Given the description of an element on the screen output the (x, y) to click on. 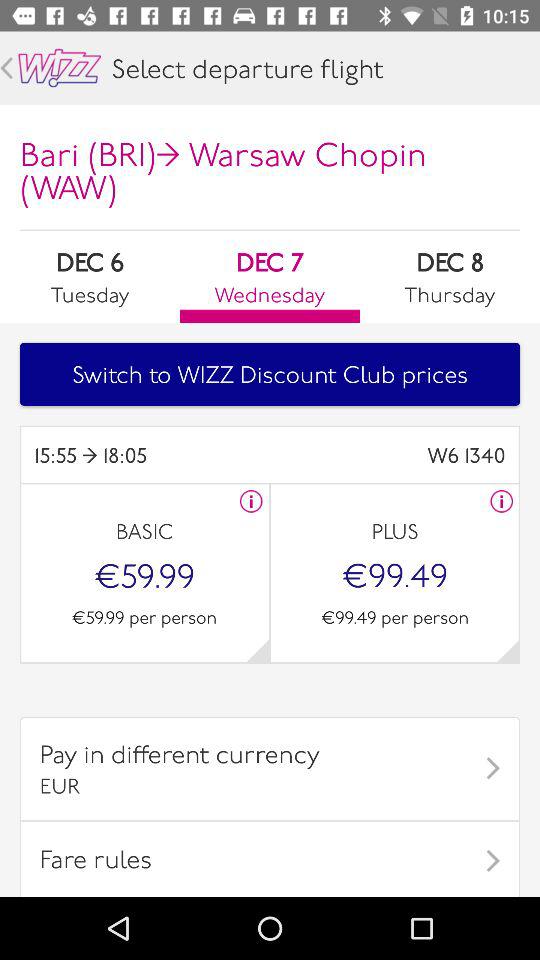
view more details (507, 650)
